Given the description of an element on the screen output the (x, y) to click on. 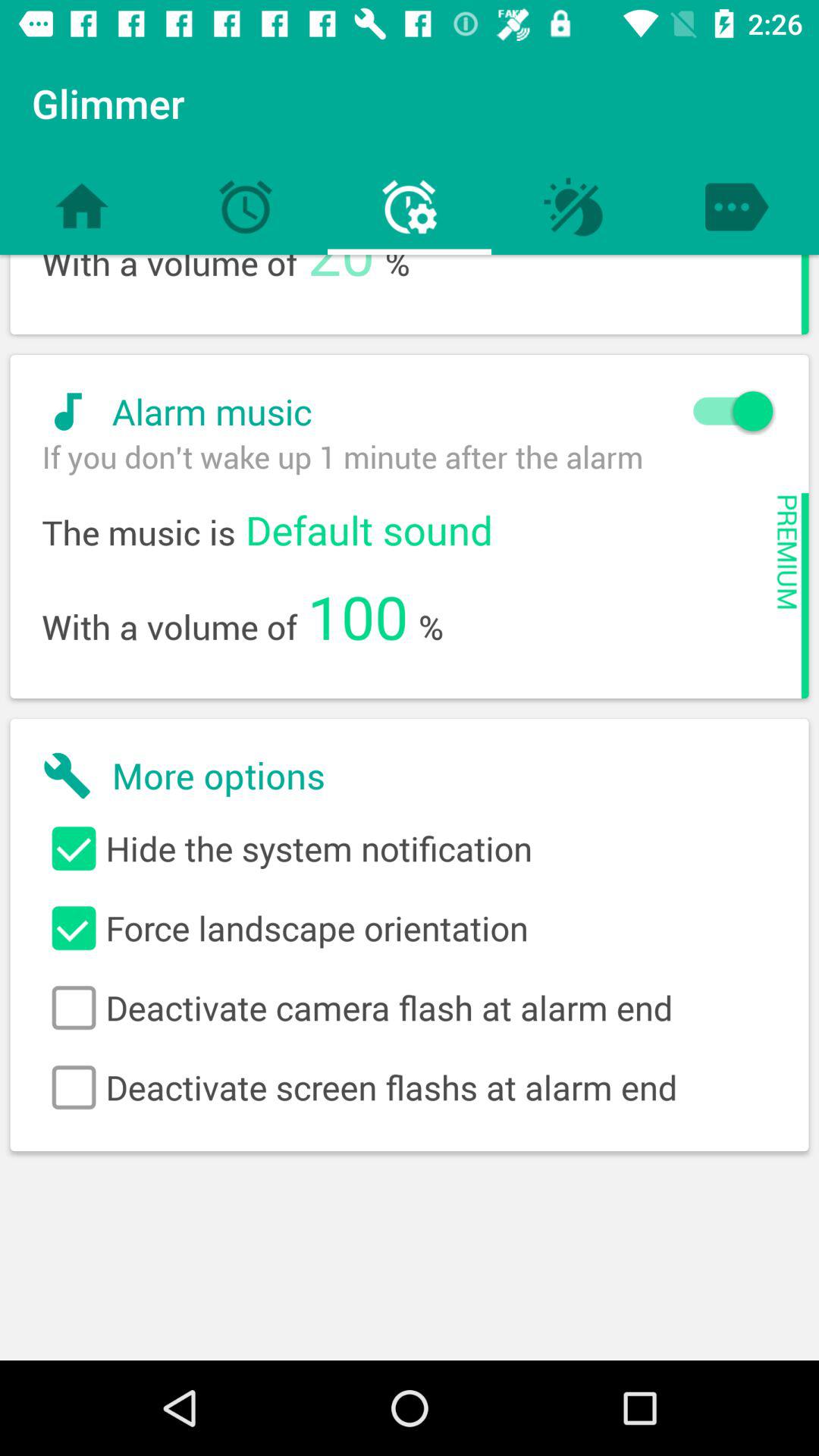
turn off default sound item (368, 529)
